Given the description of an element on the screen output the (x, y) to click on. 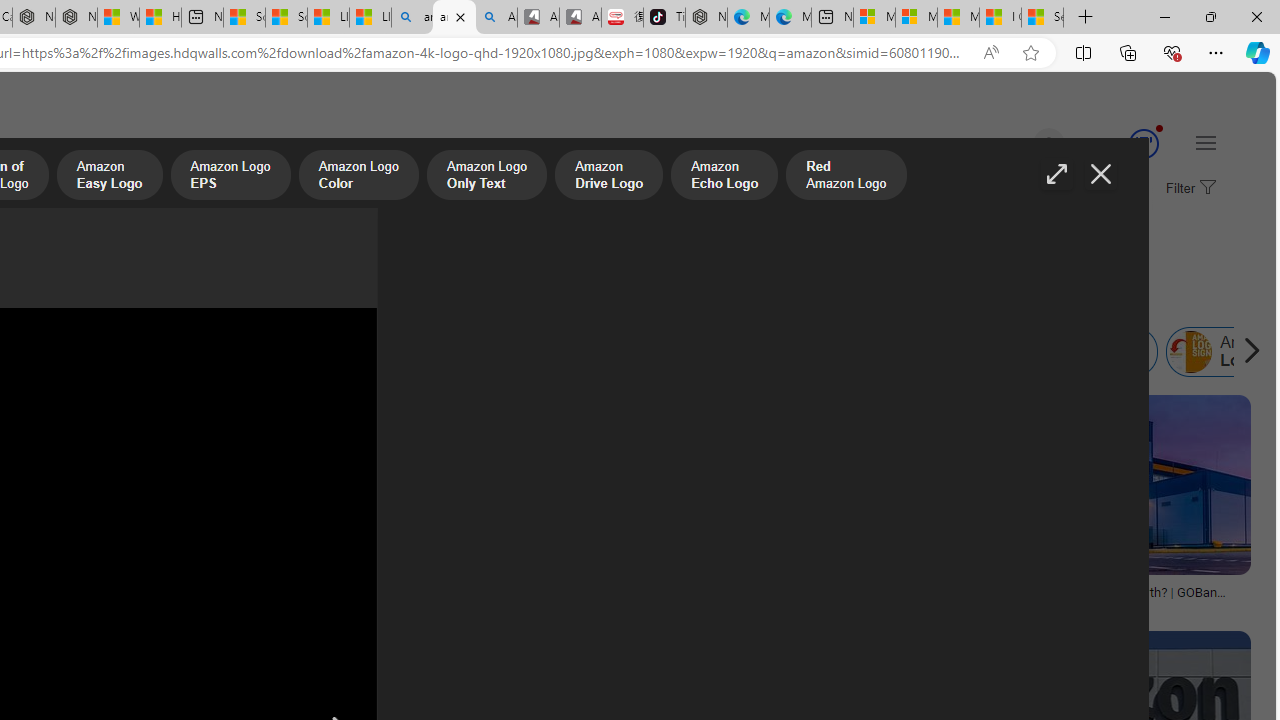
Wildlife - MSN (118, 17)
Amazon Easy Logo (109, 177)
Amazon Forest (475, 351)
Amazon Echo Logo (723, 177)
TikTok (663, 17)
hdqwalls.com (704, 605)
Amazon Login (1191, 351)
